Given the description of an element on the screen output the (x, y) to click on. 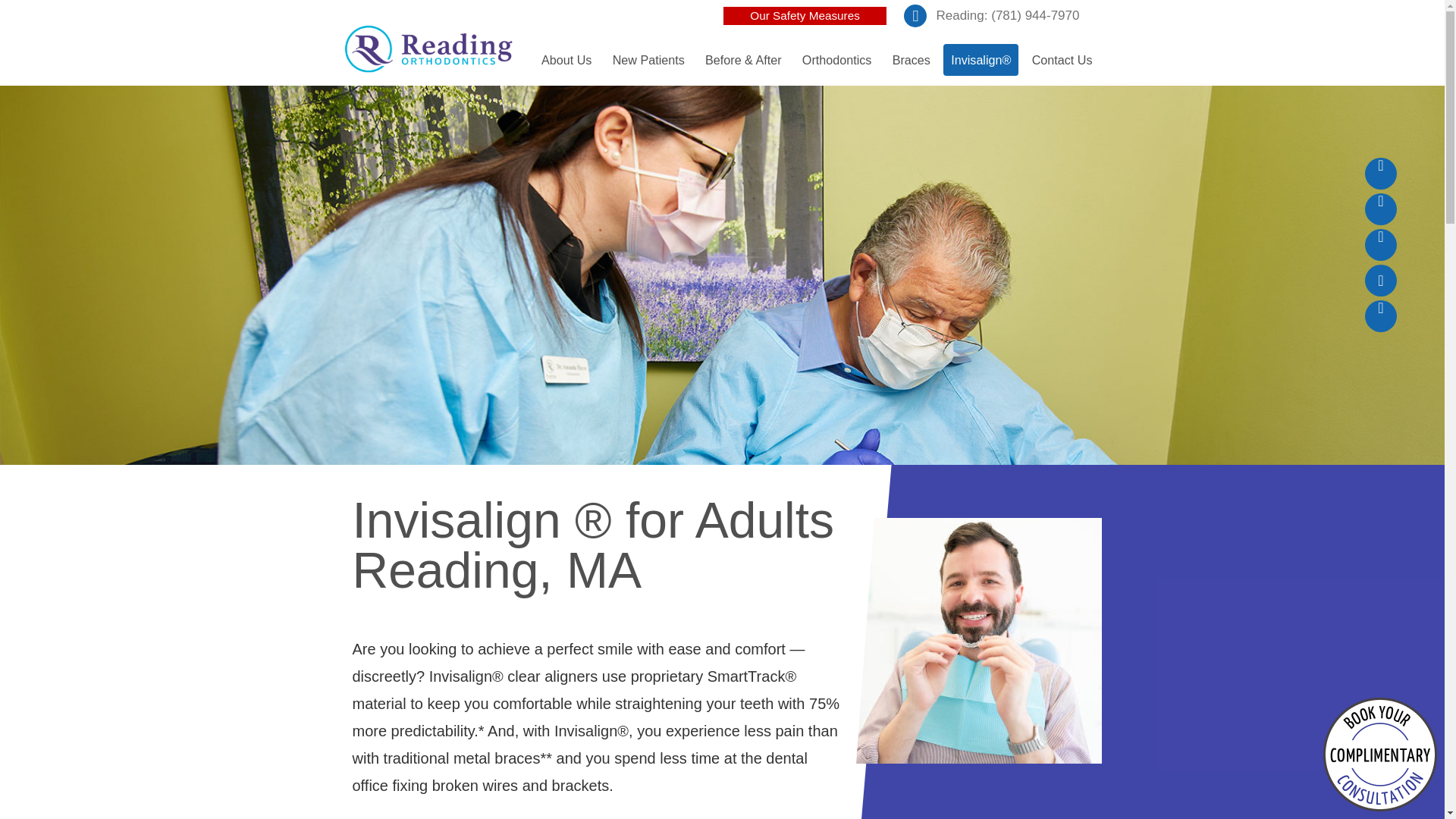
Contact Us (1062, 59)
Orthodontics (836, 59)
New Patients (649, 59)
Our Safety Measures (804, 15)
Braces (911, 59)
About Us (566, 59)
